Given the description of an element on the screen output the (x, y) to click on. 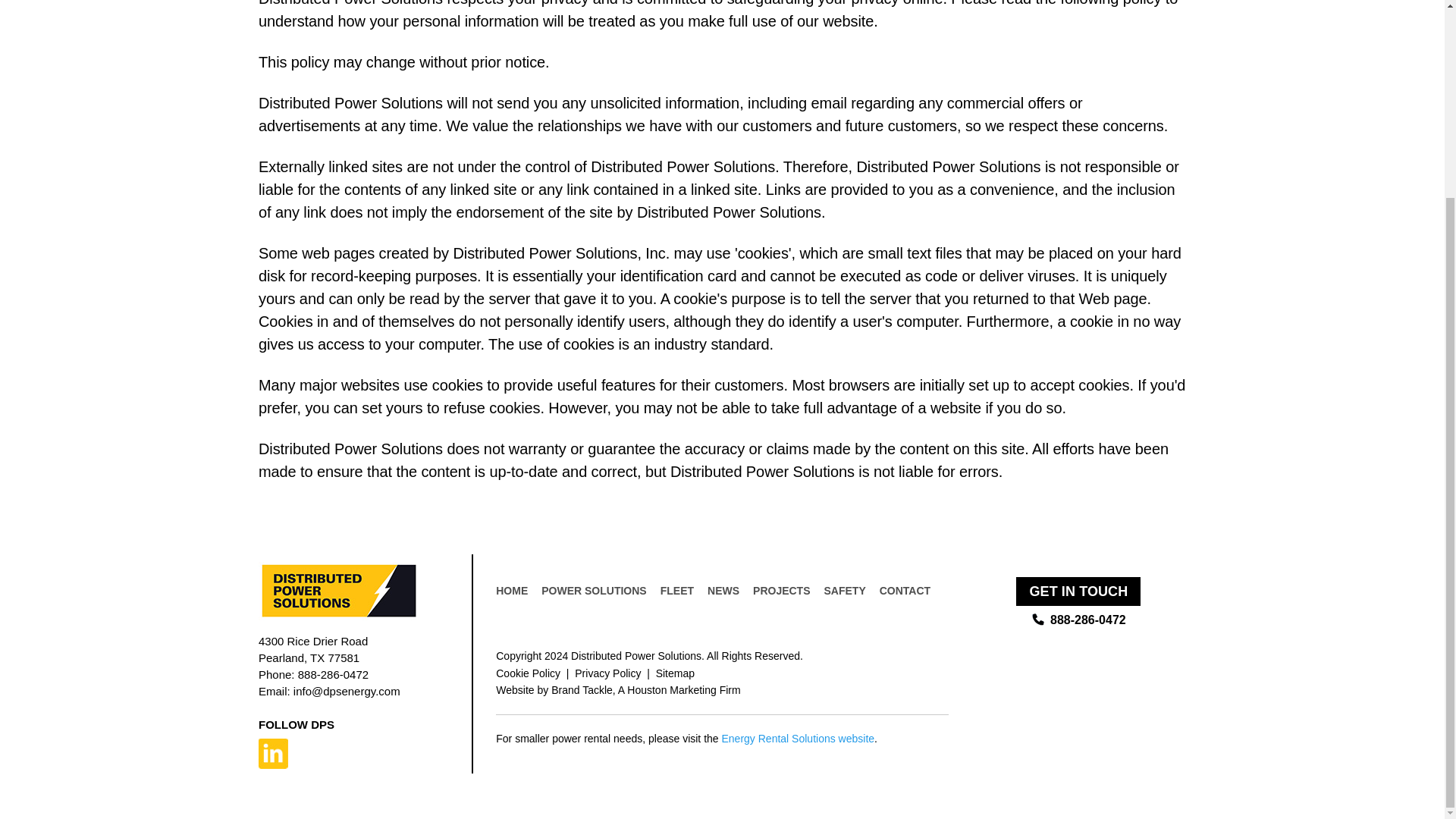
POWER SOLUTIONS (593, 590)
Sitemap (675, 673)
888-286-0472 (333, 674)
Website by Brand Tackle, A Houston Marketing Firm (617, 689)
PROJECTS (780, 590)
CONTACT (904, 590)
888-286-0472 (1078, 619)
Energy Rental Solutions website (798, 738)
GET IN TOUCH (1078, 591)
Cookie Policy (528, 673)
